Given the description of an element on the screen output the (x, y) to click on. 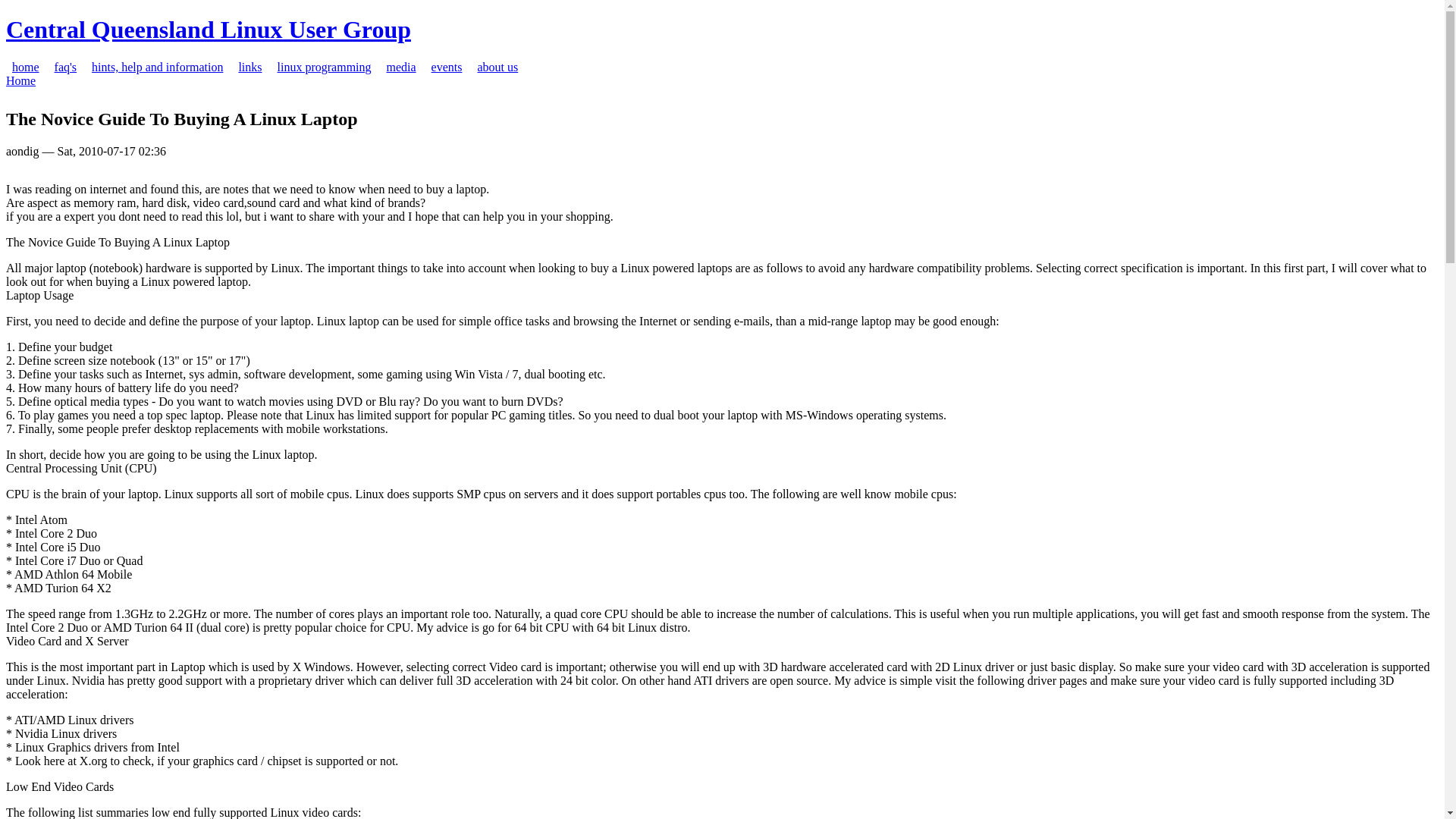
about us Element type: text (496, 66)
home Element type: text (25, 66)
links Element type: text (249, 66)
hints, help and information Element type: text (156, 66)
Central Queensland Linux User Group Element type: text (208, 29)
events Element type: text (446, 66)
faq's Element type: text (65, 66)
linux programming Element type: text (324, 66)
Home Element type: text (20, 80)
media Element type: text (401, 66)
